Given the description of an element on the screen output the (x, y) to click on. 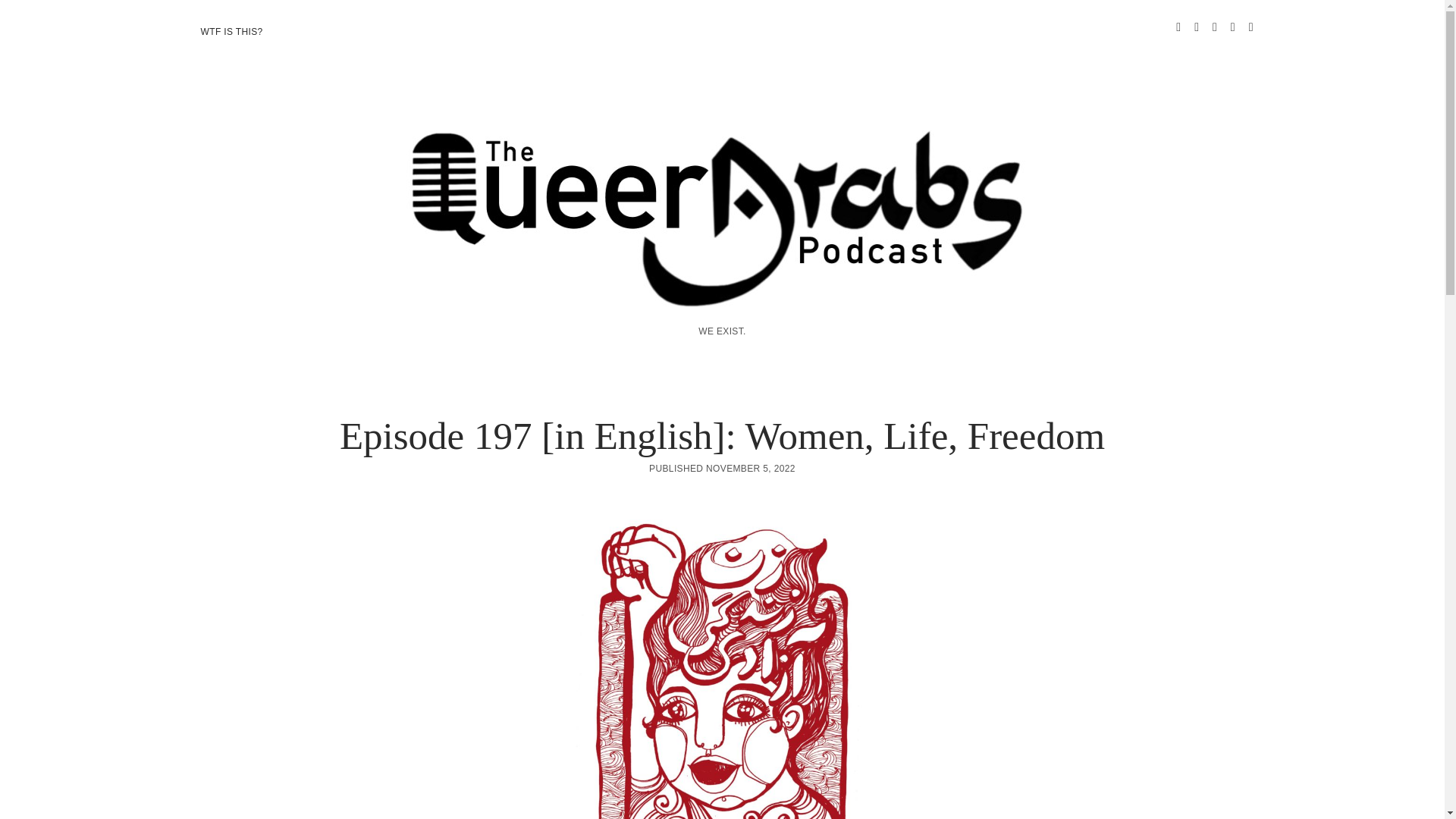
WTF IS THIS? (230, 31)
The Queer Arabs (722, 290)
